Given the description of an element on the screen output the (x, y) to click on. 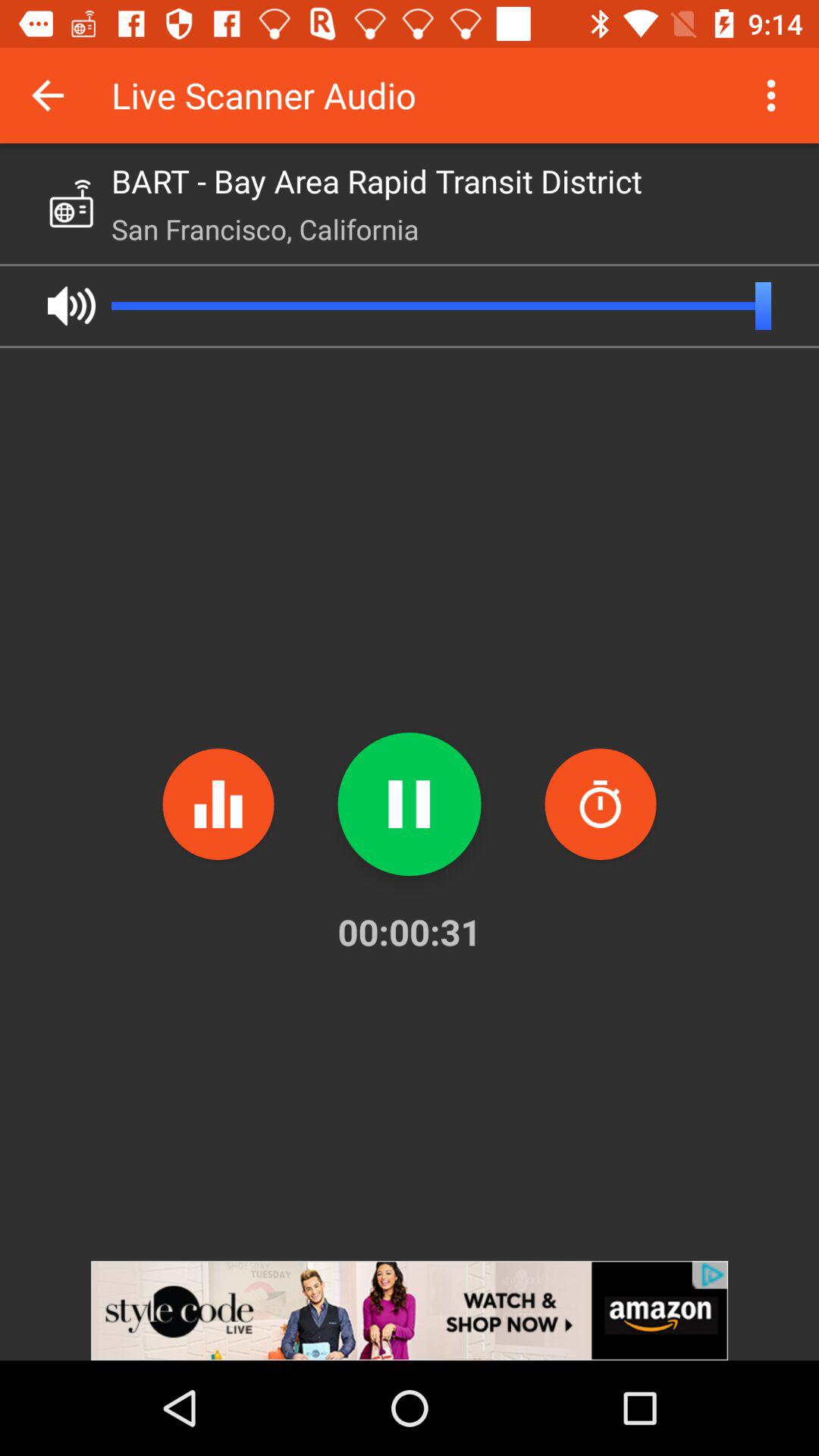
spam (600, 803)
